Given the description of an element on the screen output the (x, y) to click on. 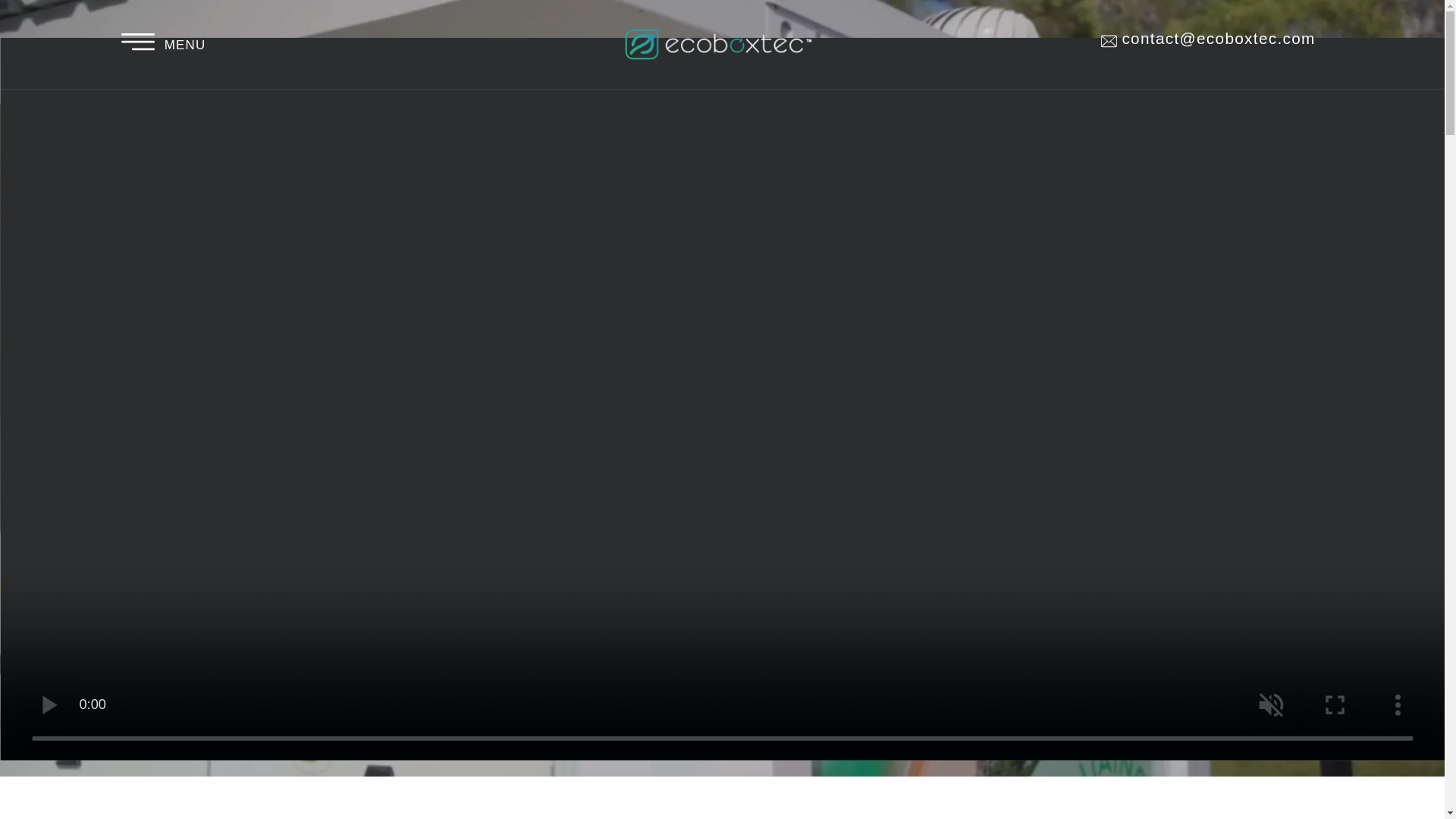
MENU (142, 34)
